Given the description of an element on the screen output the (x, y) to click on. 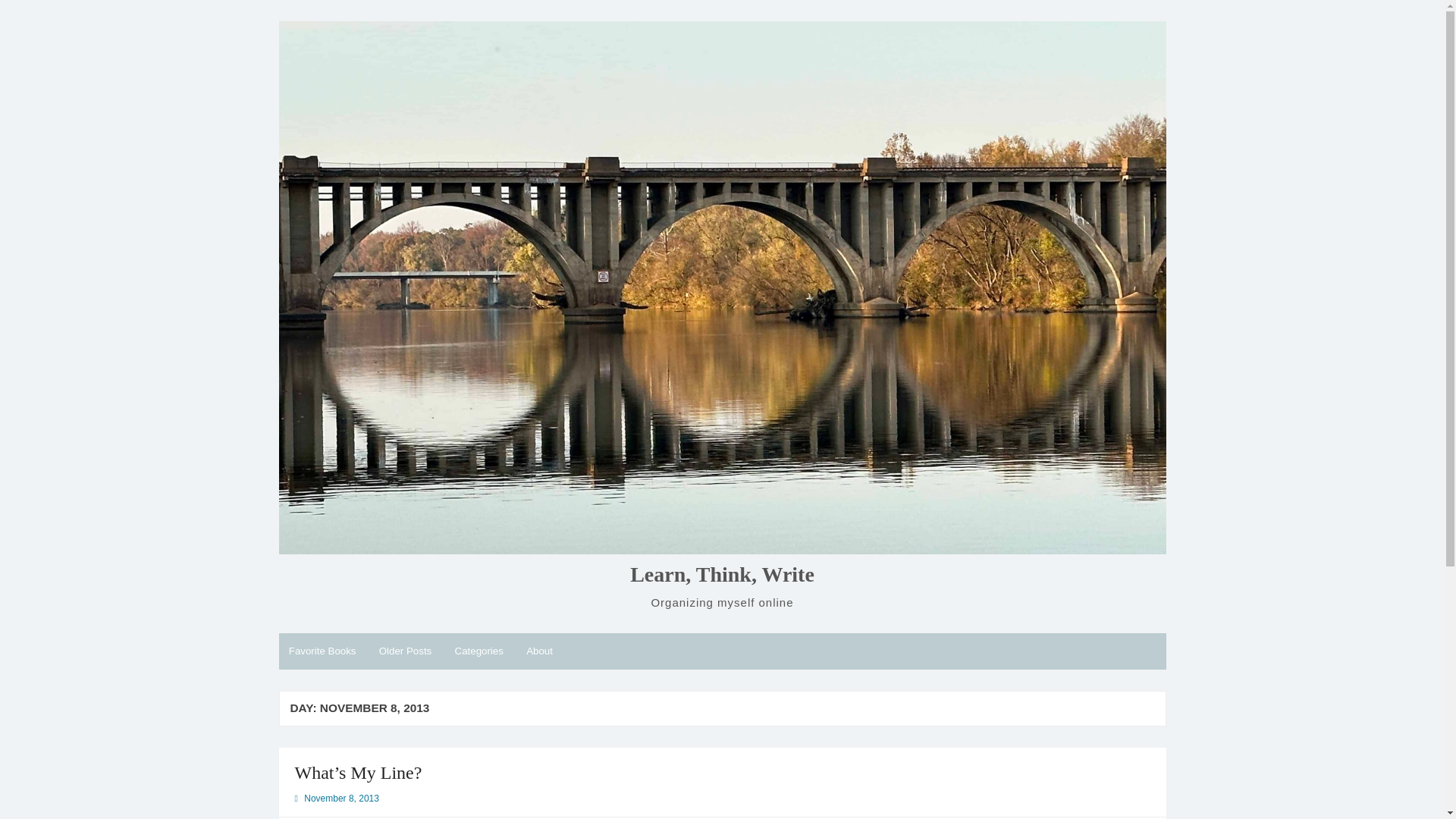
About (539, 651)
November 8, 2013 (341, 798)
Older Posts (404, 651)
Favorite Books (322, 651)
Categories (478, 651)
Learn, Think, Write (721, 574)
